Given the description of an element on the screen output the (x, y) to click on. 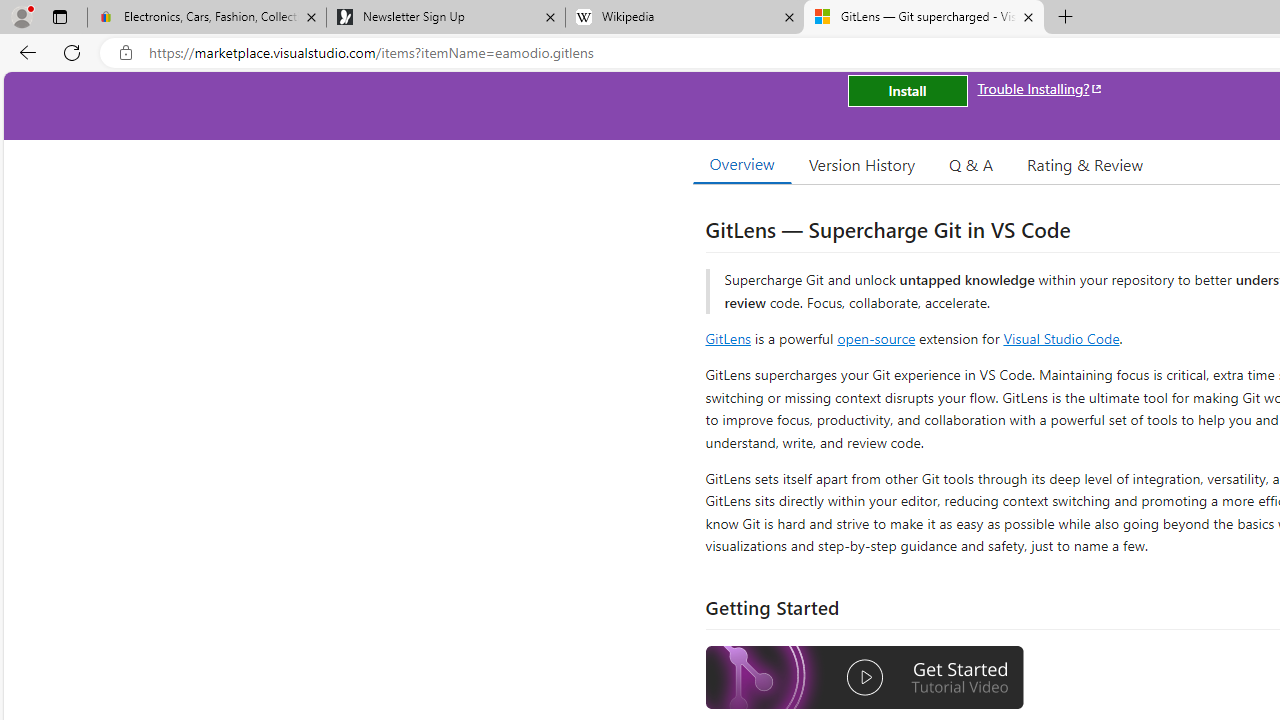
Visual Studio Code (1061, 337)
Newsletter Sign Up (445, 17)
Rating & Review (1084, 164)
